Given the description of an element on the screen output the (x, y) to click on. 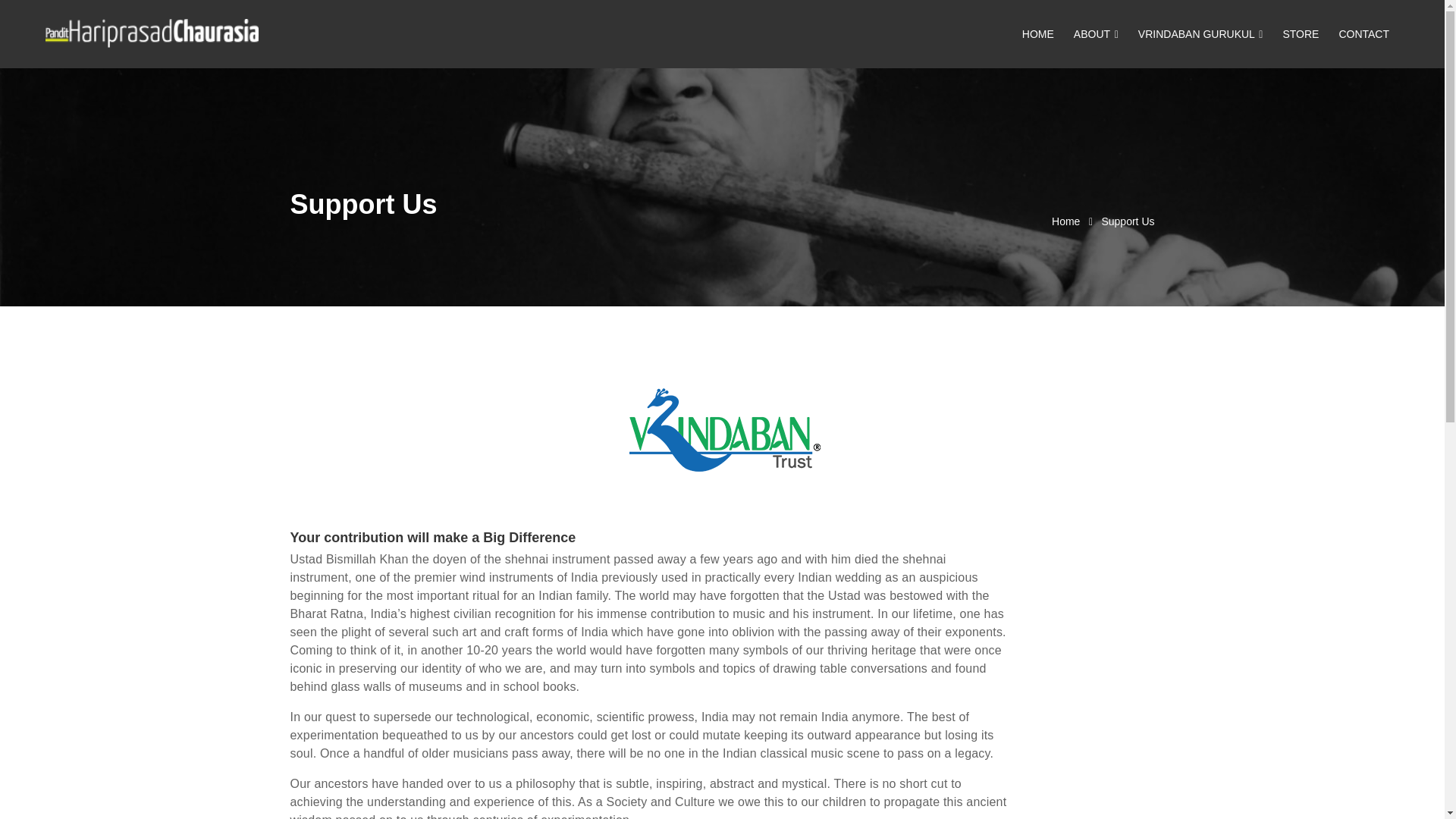
ABOUT (1096, 33)
CONTACT (1363, 33)
VRINDABAN GURUKUL (1200, 33)
Home (1065, 221)
STORE (1299, 33)
HOME (1037, 33)
